Given the description of an element on the screen output the (x, y) to click on. 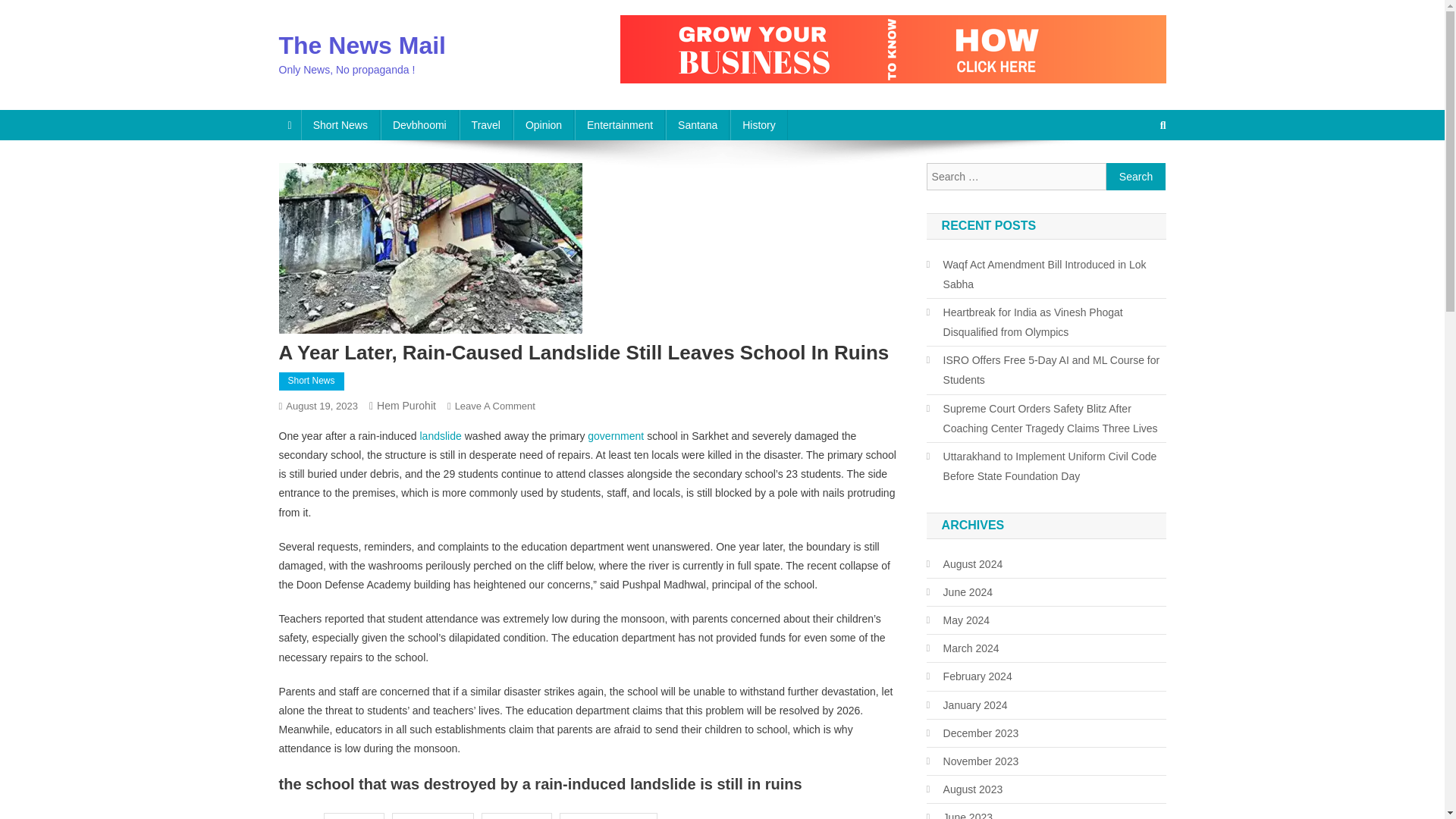
Search (1133, 175)
Search (1136, 176)
The News Mail (362, 44)
Search (1136, 176)
Opinion (543, 124)
Santana (697, 124)
Uttarakhand (516, 816)
government (615, 435)
August 19, 2023 (321, 405)
Entertainment (620, 124)
